Given the description of an element on the screen output the (x, y) to click on. 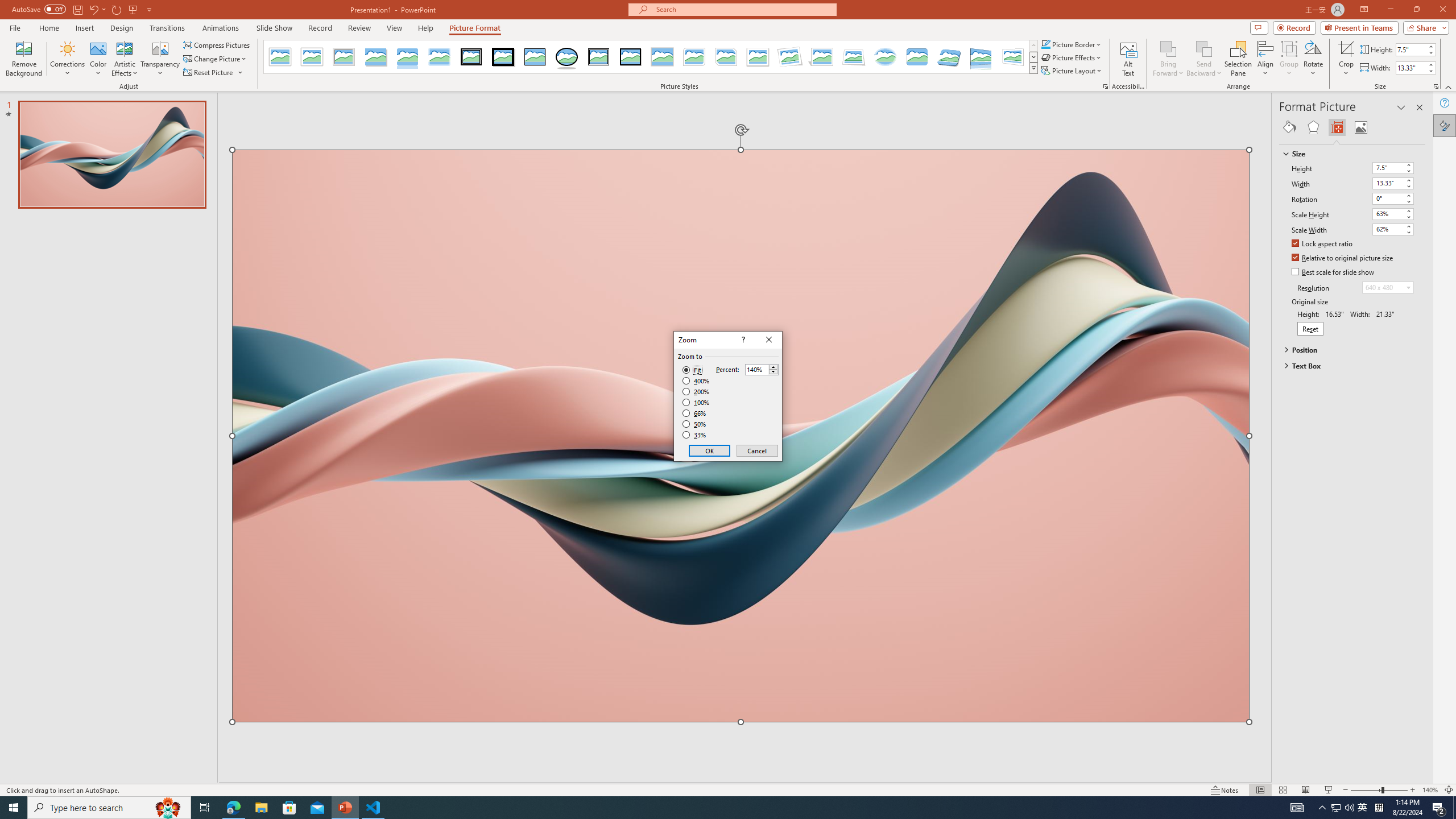
Simple Frame, Black (535, 56)
Crop (1345, 58)
Class: NetUIGalleryContainer (1352, 126)
Height (1393, 167)
Zoom 140% (1430, 790)
Beveled Oval, Black (566, 56)
